Given the description of an element on the screen output the (x, y) to click on. 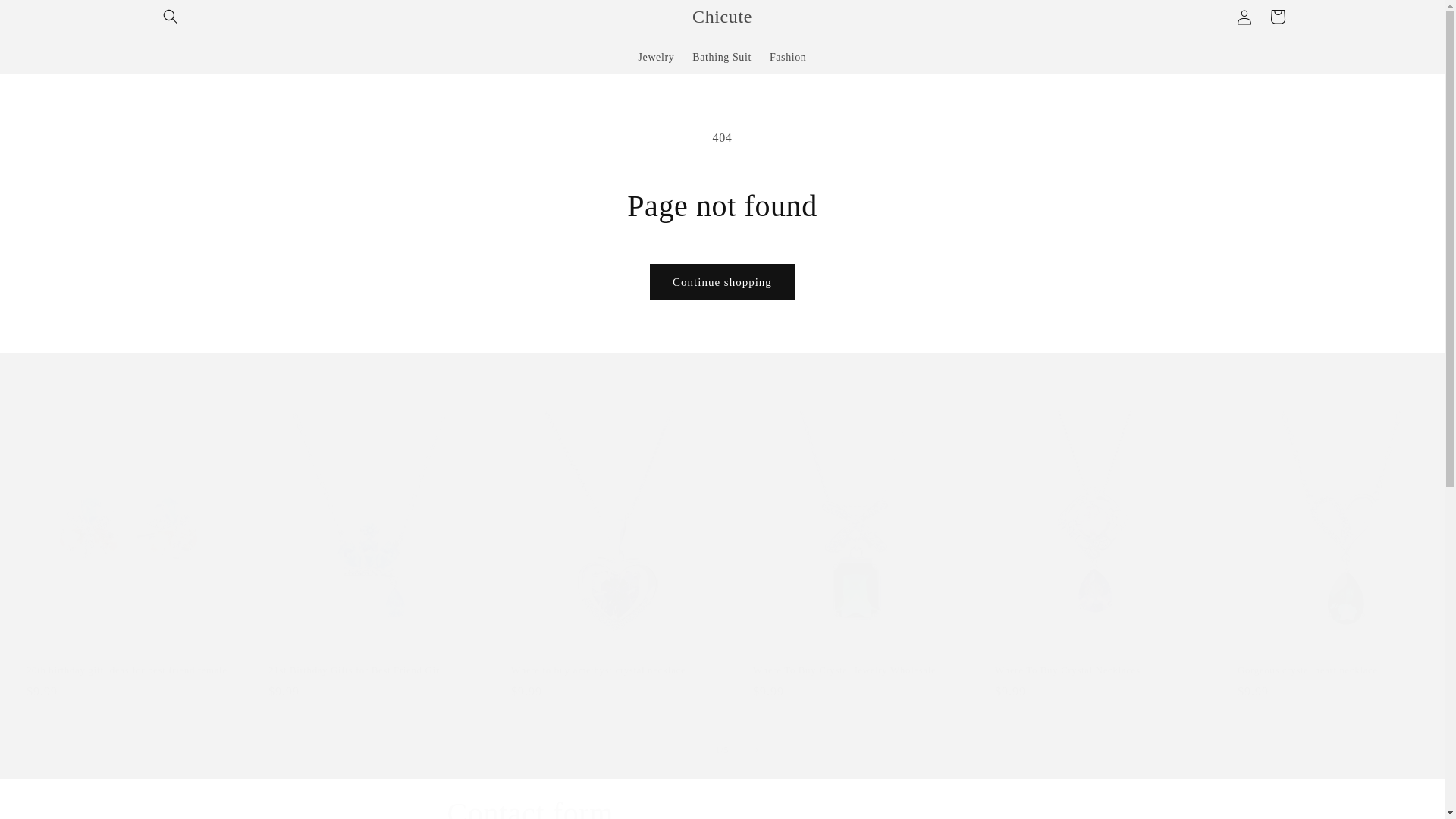
Log in (1243, 16)
Jewelry (656, 56)
Where to buy amethyst crystal necklace (612, 671)
Cart (1277, 16)
20th birthday gift ideas for best friend female (127, 671)
Chicute (722, 16)
21st Birthday Gifts for Best Friend Girl (368, 671)
Continue shopping (721, 281)
Contact form (721, 806)
Skip to content (45, 17)
Where To Buy Crystal Jewelry Wholesale (853, 671)
Bathing Suit (721, 56)
Where To Buy Crystal Necklaces (1095, 671)
Gorgeous crystal heart necklace (1338, 671)
Fashion (787, 56)
